Given the description of an element on the screen output the (x, y) to click on. 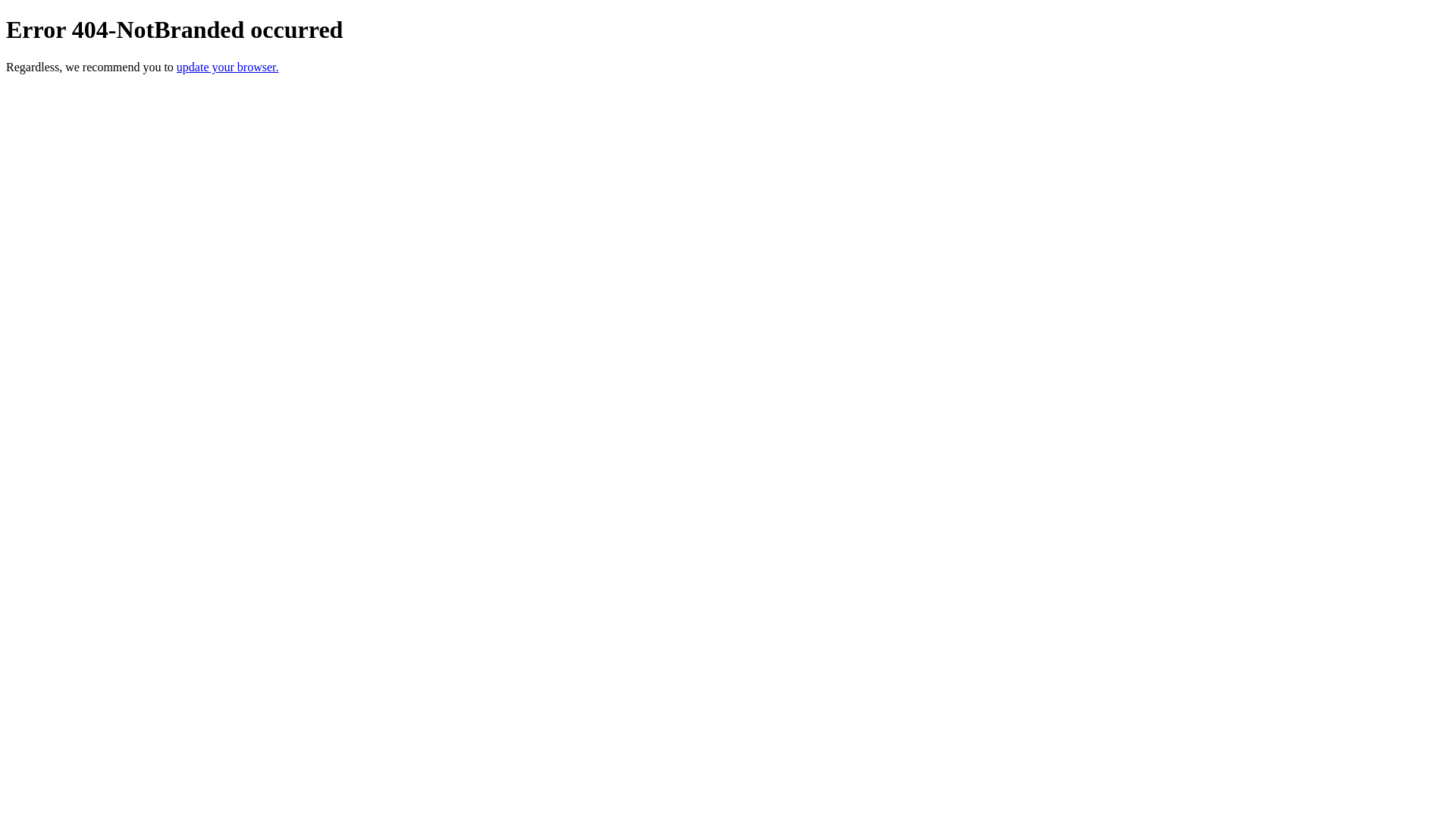
update your browser. Element type: text (227, 66)
